Given the description of an element on the screen output the (x, y) to click on. 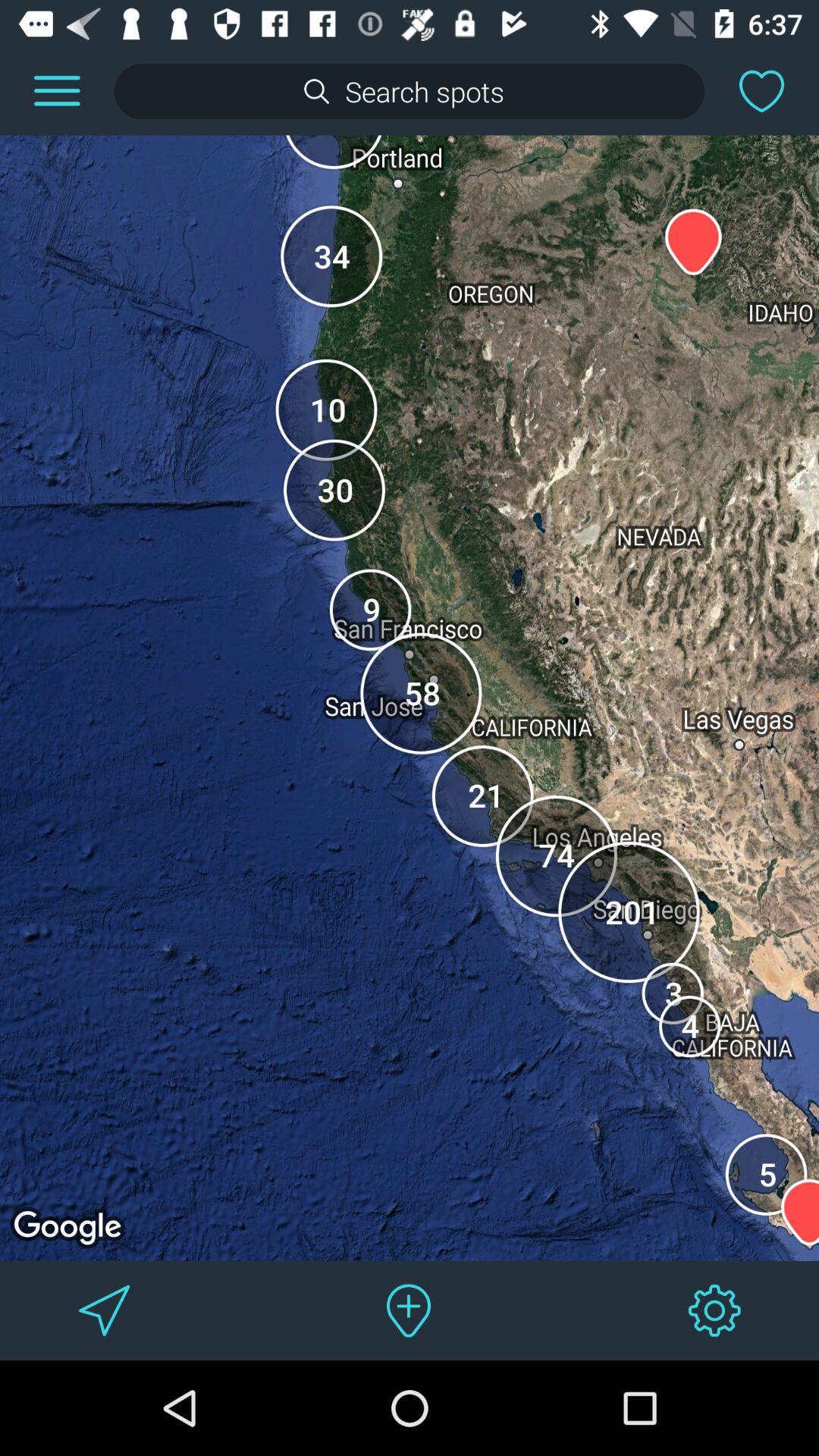
look at the menu (57, 91)
